Given the description of an element on the screen output the (x, y) to click on. 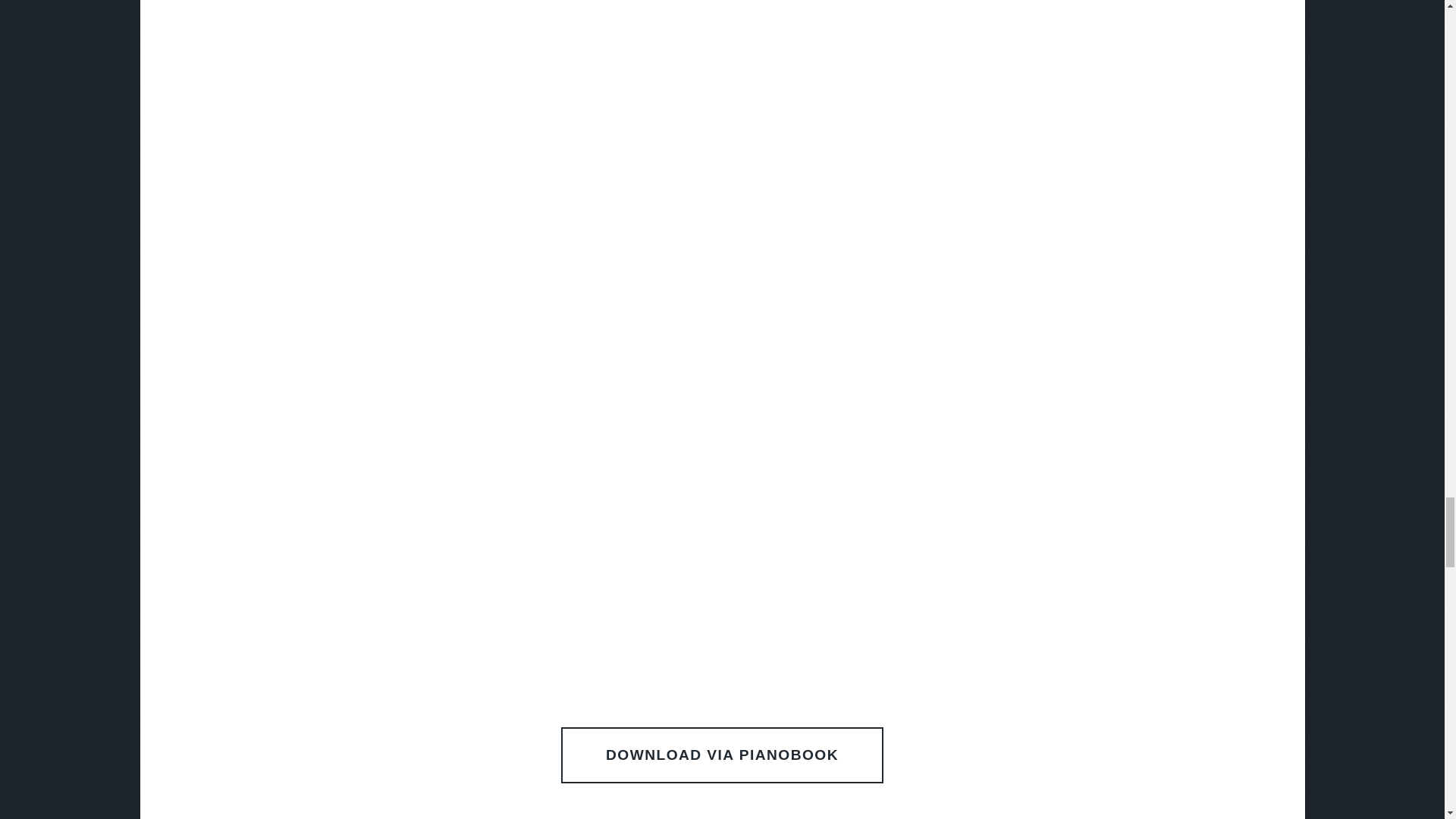
DOWNLOAD VIA PIANOBOOK (721, 755)
YouTube video player (721, 38)
